Given the description of an element on the screen output the (x, y) to click on. 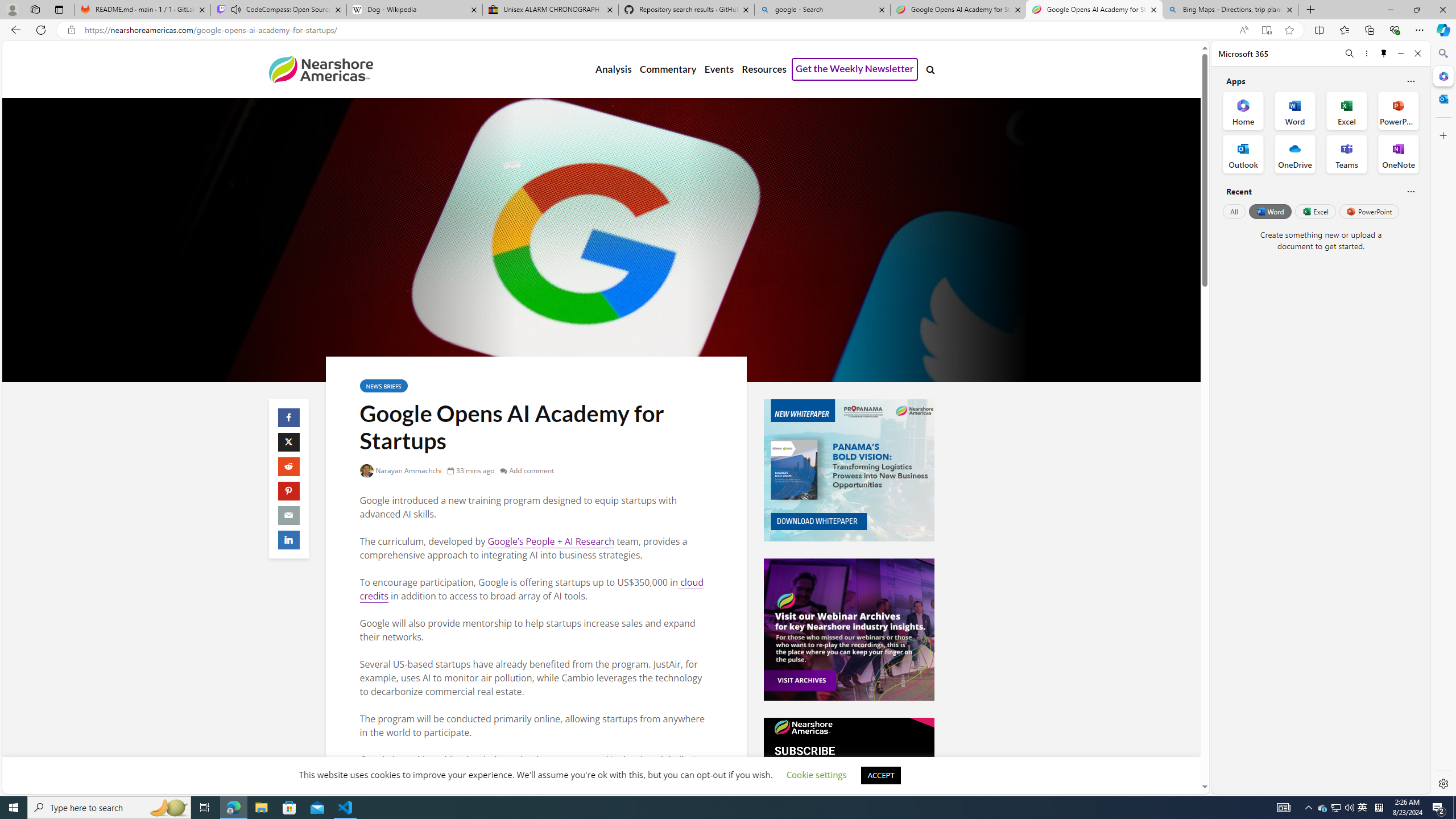
More options (1366, 53)
Google Opens AI Academy for Startups - Nearshore Americas (1094, 9)
Minimize (1401, 53)
Microsoft 365 (1442, 76)
Customize (1442, 135)
Events (718, 69)
Personal Profile (12, 9)
ACCEPT (880, 775)
Banco Santander (497, 773)
OneNote Office App (1398, 154)
Is this helpful? (1410, 191)
Restore (1416, 9)
Resources (763, 69)
